Given the description of an element on the screen output the (x, y) to click on. 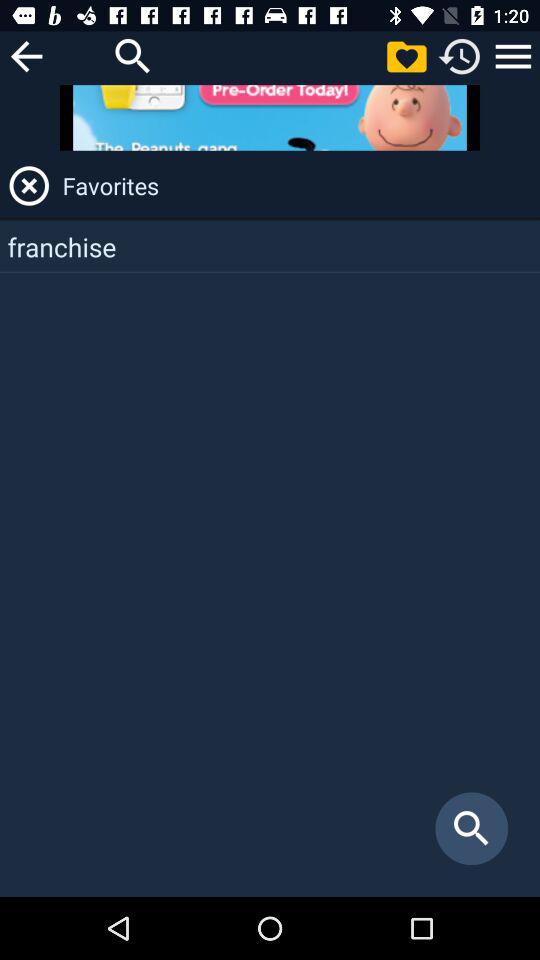
favorites history (513, 56)
